Given the description of an element on the screen output the (x, y) to click on. 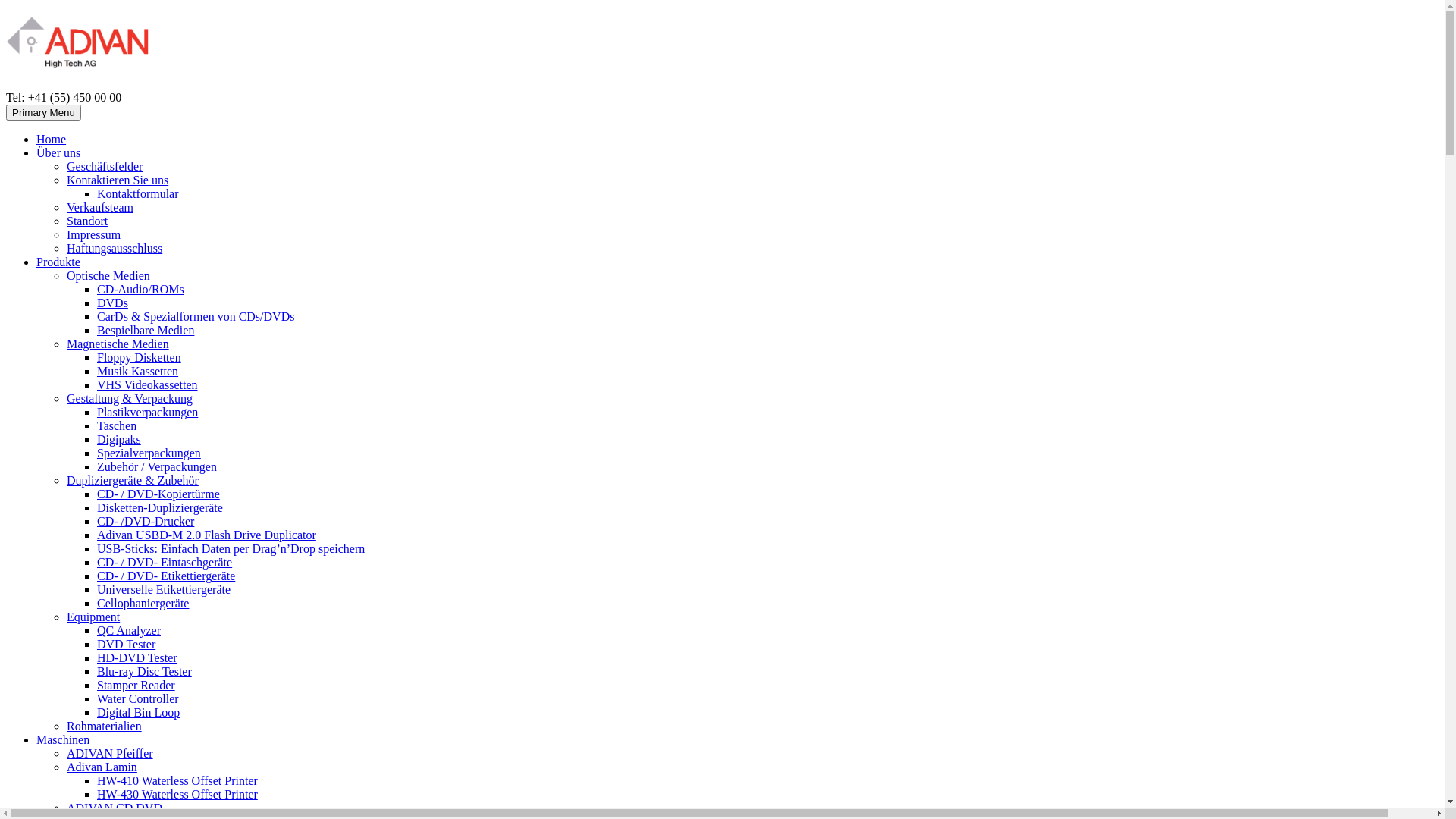
HW-410 Waterless Offset Printer Element type: text (177, 780)
Gestaltung & Verpackung Element type: text (129, 398)
CD-Audio/ROMs Element type: text (140, 288)
CarDs & Spezialformen von CDs/DVDs Element type: text (195, 316)
Maschinen Element type: text (62, 739)
Rohmaterialien Element type: text (103, 725)
Primary Menu Element type: text (43, 112)
ADIVAN CD DVD Element type: text (114, 807)
HD-DVD Tester Element type: text (137, 657)
VHS Videokassetten Element type: text (147, 384)
Optische Medien Element type: text (108, 275)
Magnetische Medien Element type: text (117, 343)
DVD Tester Element type: text (126, 643)
Floppy Disketten Element type: text (139, 357)
CD- /DVD-Drucker Element type: text (145, 520)
Haftungsausschluss Element type: text (114, 247)
Blu-ray Disc Tester Element type: text (144, 671)
Kontaktformular Element type: text (137, 193)
Adivan USBD-M 2.0 Flash Drive Duplicator Element type: text (206, 534)
Home Element type: text (50, 138)
Equipment Element type: text (92, 616)
Plastikverpackungen Element type: text (147, 411)
QC Analyzer Element type: text (128, 630)
Digipaks Element type: text (119, 439)
ADIVAN Pfeiffer Element type: text (109, 752)
Digital Bin Loop Element type: text (138, 712)
Produkte Element type: text (58, 261)
Stamper Reader Element type: text (136, 684)
Musik Kassetten Element type: text (137, 370)
Skip to content Element type: text (5, 15)
DVDs Element type: text (112, 302)
Taschen Element type: text (116, 425)
Standort Element type: text (86, 220)
Impressum Element type: text (93, 234)
HW-430 Waterless Offset Printer Element type: text (177, 793)
Water Controller Element type: text (137, 698)
Adivan Lamin Element type: text (101, 766)
Spezialverpackungen Element type: text (148, 452)
Verkaufsteam Element type: text (99, 206)
Kontaktieren Sie uns Element type: text (117, 179)
Bespielbare Medien Element type: text (145, 329)
